Given the description of an element on the screen output the (x, y) to click on. 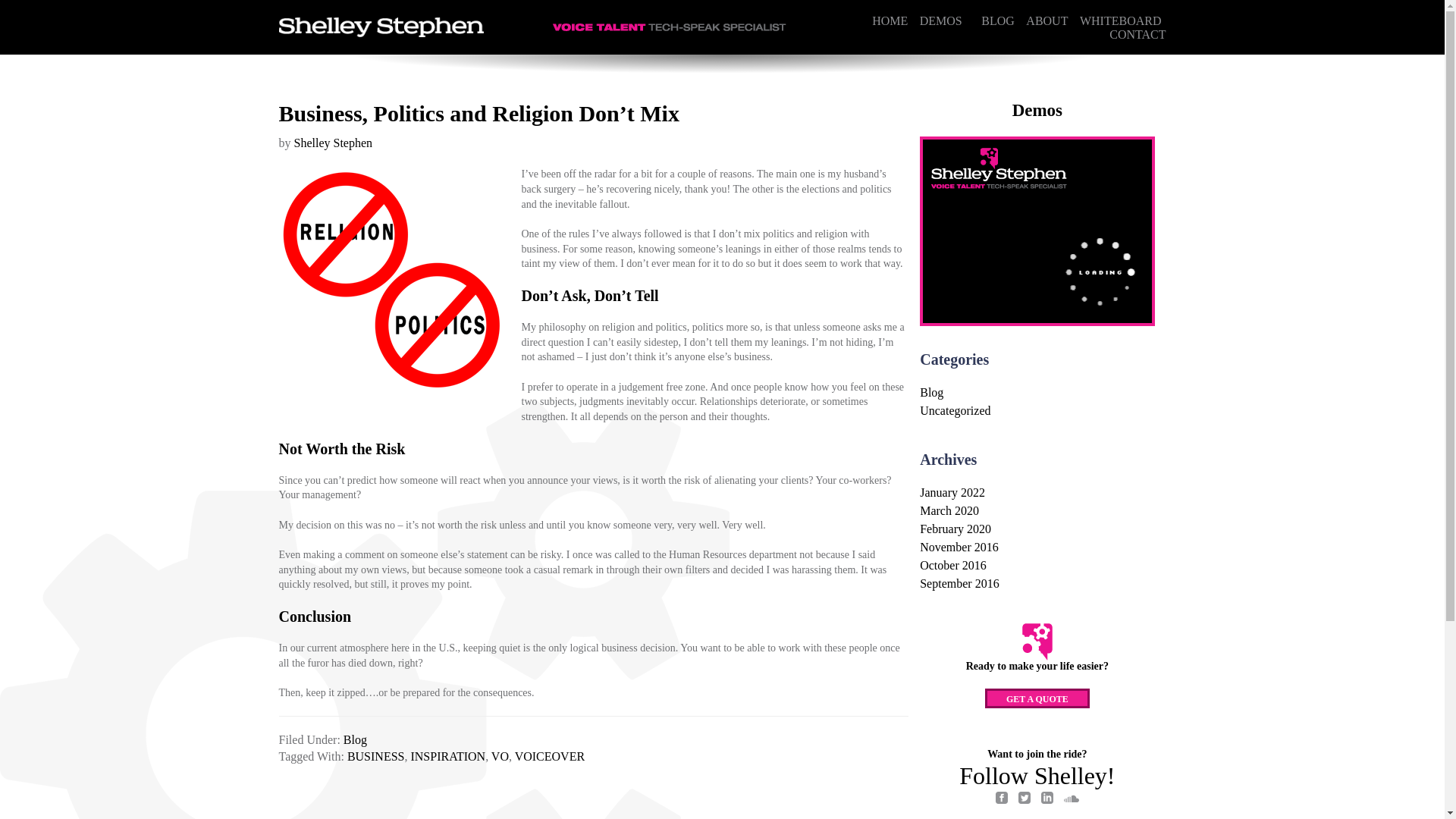
INSPIRATION (447, 756)
October 2016 (953, 564)
January 2022 (952, 492)
CONTACT (1137, 33)
Soundcloud (1071, 799)
HOME (889, 20)
Twitter (1023, 799)
GET A QUOTE (1037, 698)
Linkedin (1046, 799)
VO (500, 756)
WHITEBOARD (1120, 20)
Facebook (1001, 799)
February 2020 (955, 528)
Shelley Stephen (333, 142)
Blog (354, 739)
